Given the description of an element on the screen output the (x, y) to click on. 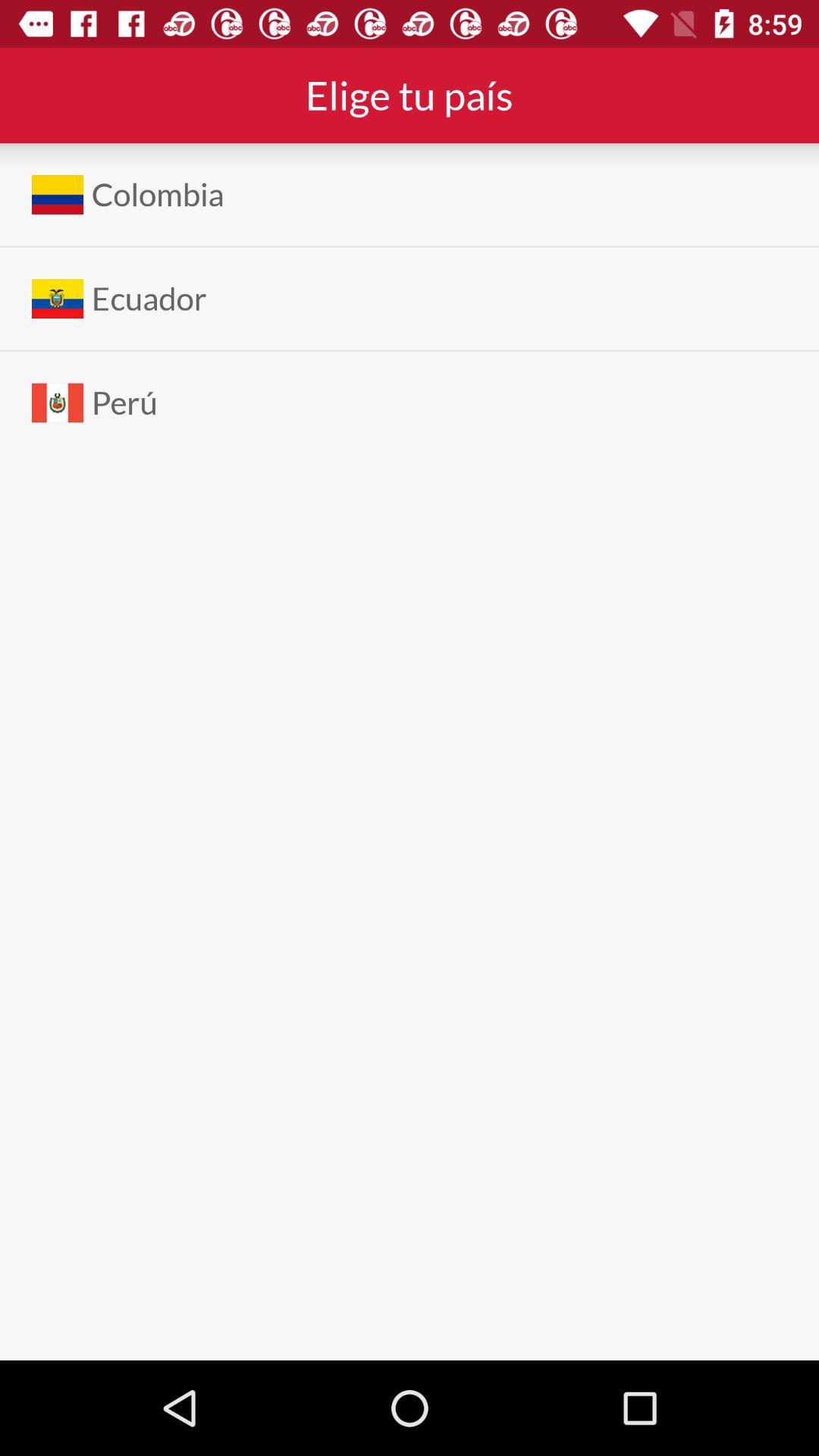
press the ecuador app (149, 298)
